Given the description of an element on the screen output the (x, y) to click on. 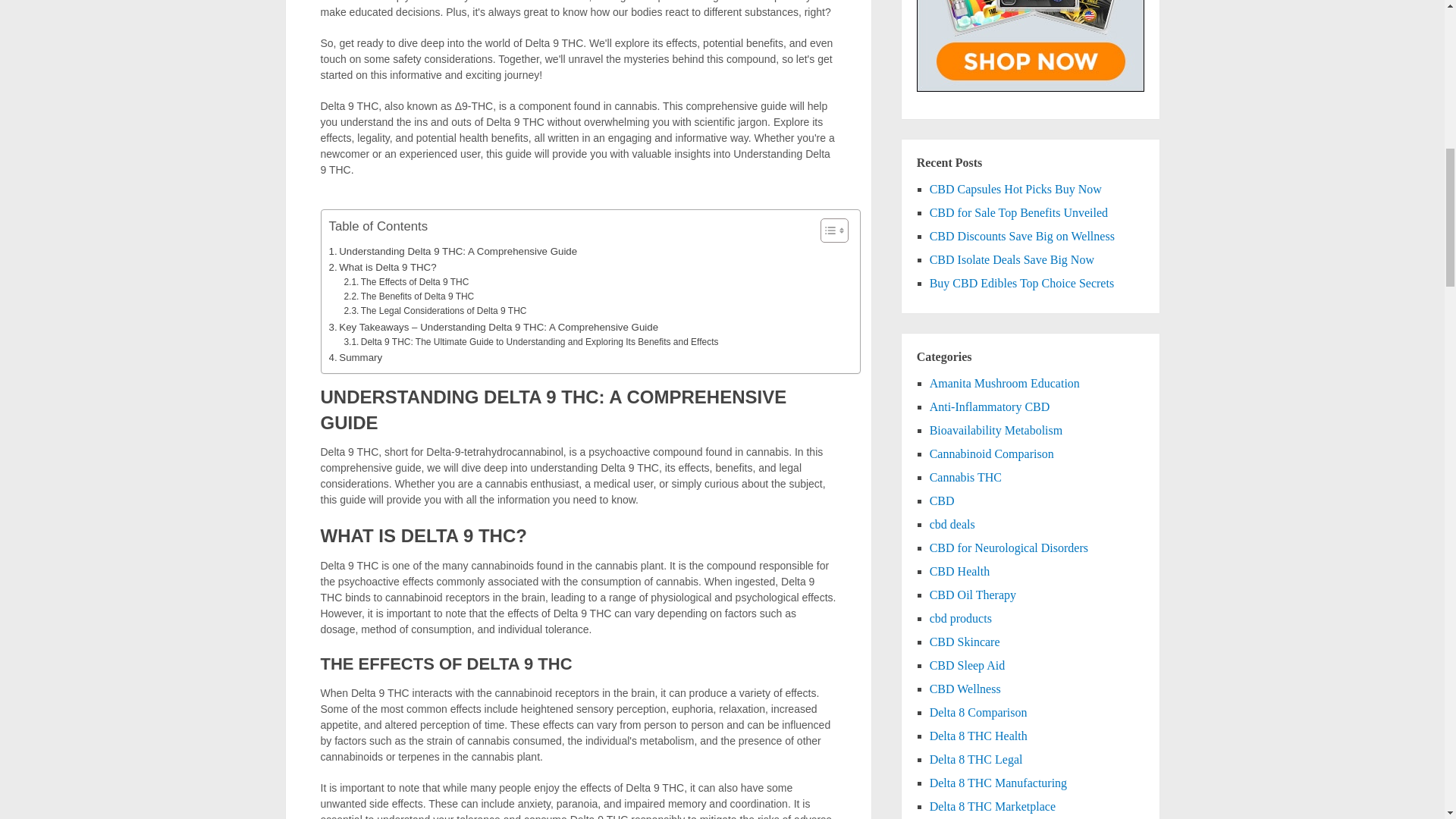
Understanding Delta 9 THC: A Comprehensive Guide (453, 251)
What is Delta 9 THC? (382, 267)
The Effects of Delta 9 THC (405, 282)
Summary (355, 357)
The Effects of Delta 9 THC (405, 282)
What is Delta 9 THC? (382, 267)
The Legal Considerations of Delta 9 THC (434, 310)
The Legal Considerations of Delta 9 THC (434, 310)
CBD for Sale Top Benefits Unveiled (1019, 212)
Summary (355, 357)
Understanding Delta 9 THC: A Comprehensive Guide (453, 251)
The Benefits of Delta 9 THC (408, 296)
